Given the description of an element on the screen output the (x, y) to click on. 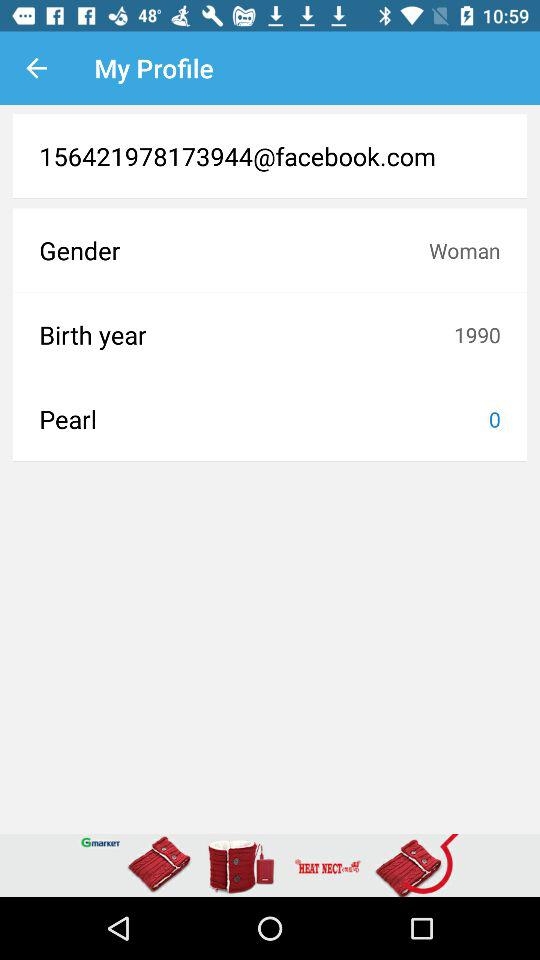
flip to 1990 icon (477, 334)
